Given the description of an element on the screen output the (x, y) to click on. 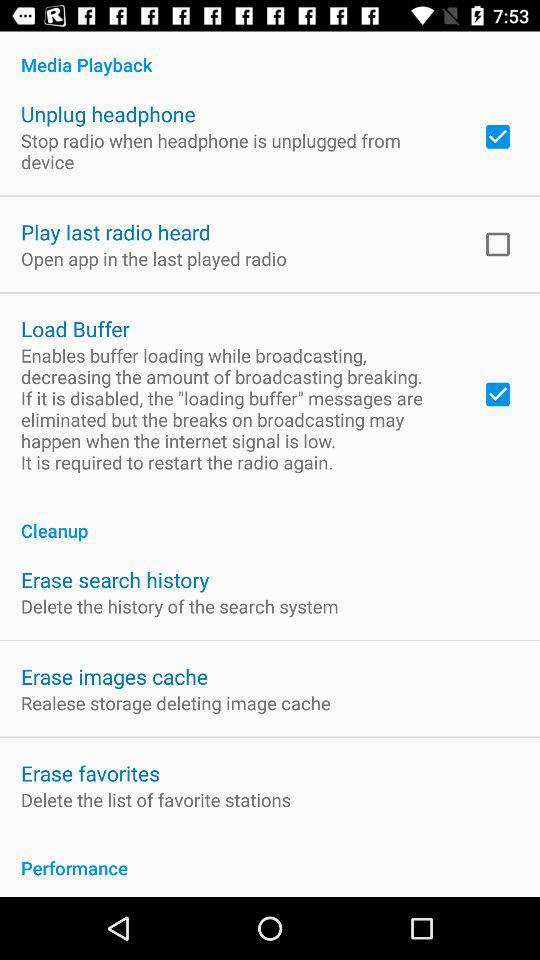
scroll to erase favorites (90, 772)
